Given the description of an element on the screen output the (x, y) to click on. 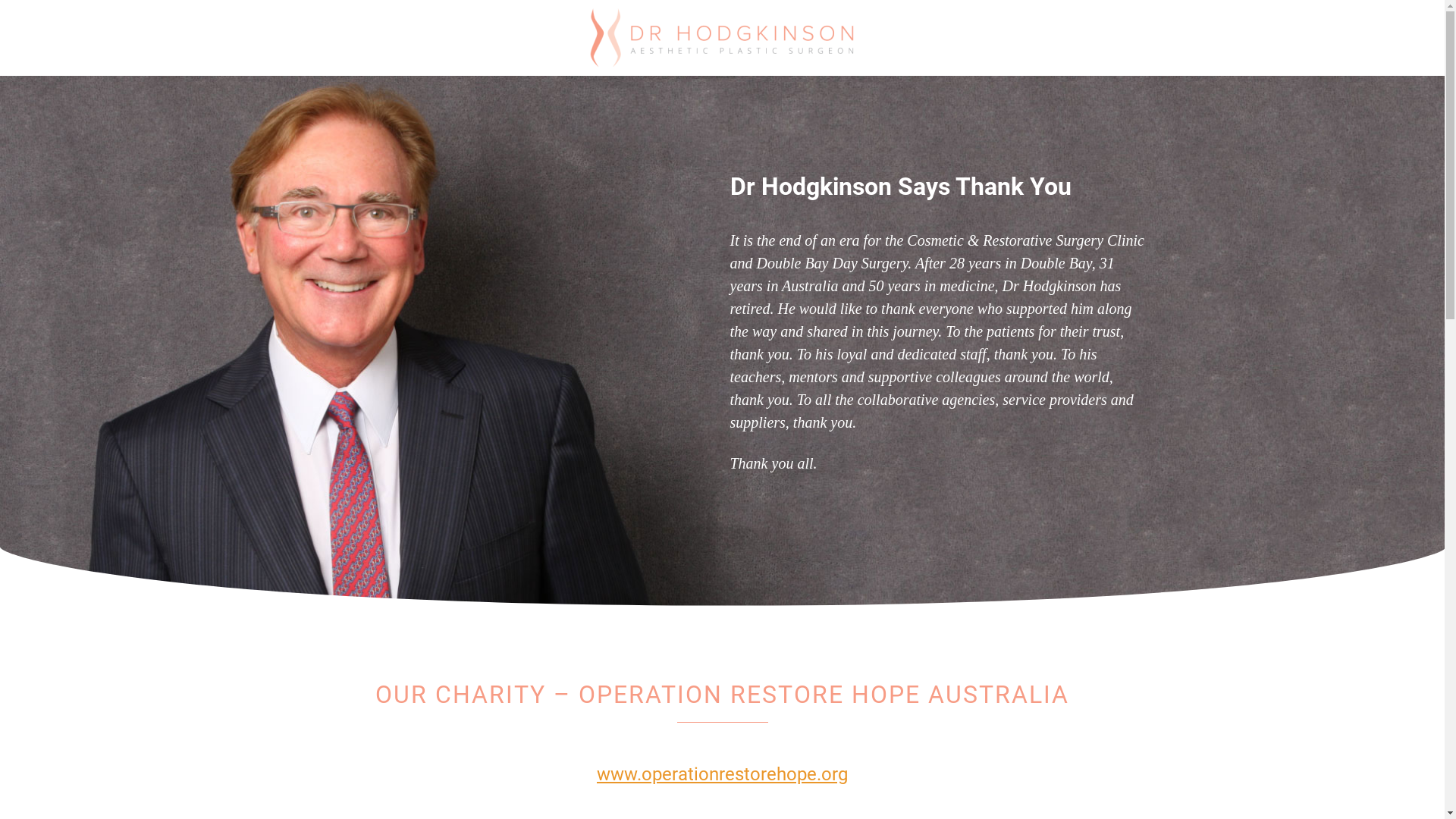
www.operationrestorehope.org Element type: text (721, 773)
